Given the description of an element on the screen output the (x, y) to click on. 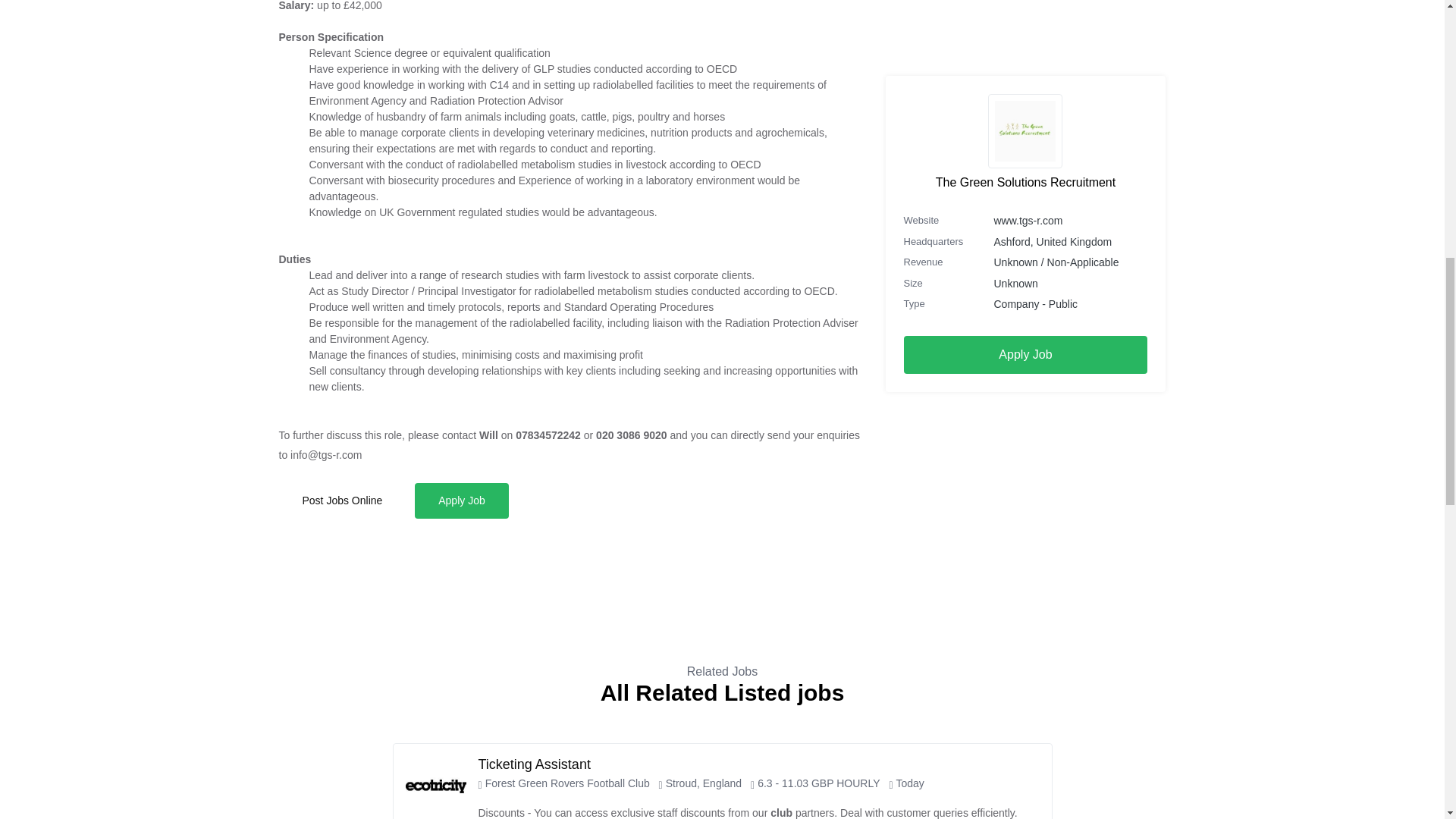
Advertisement (1025, 52)
Apply Job (461, 501)
Ticketing Assistant (533, 764)
Post Jobs Online (342, 501)
